Given the description of an element on the screen output the (x, y) to click on. 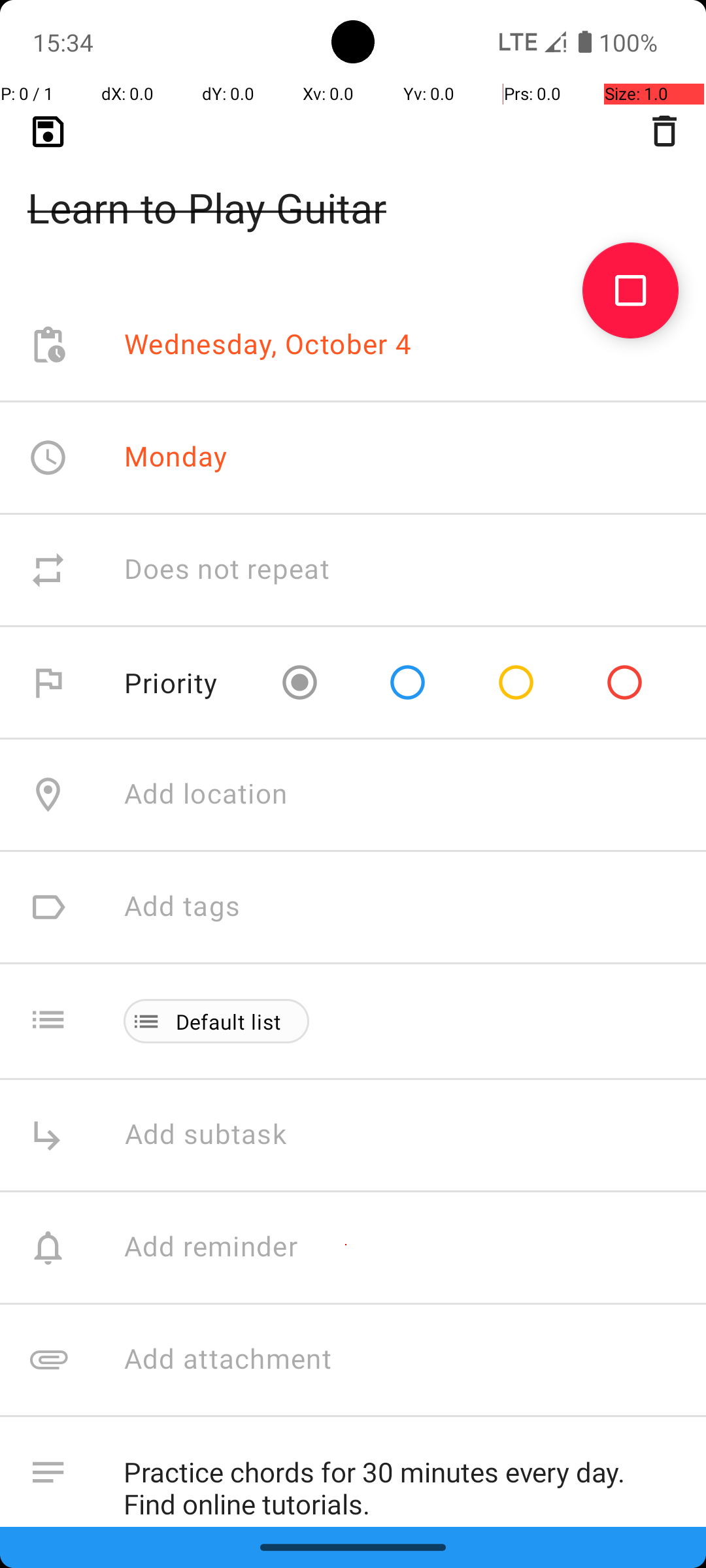
Practice chords for 30 minutes every day. Find online tutorials. Element type: android.widget.EditText (400, 1481)
Wednesday, October 4 Element type: android.widget.TextView (267, 344)
